Given the description of an element on the screen output the (x, y) to click on. 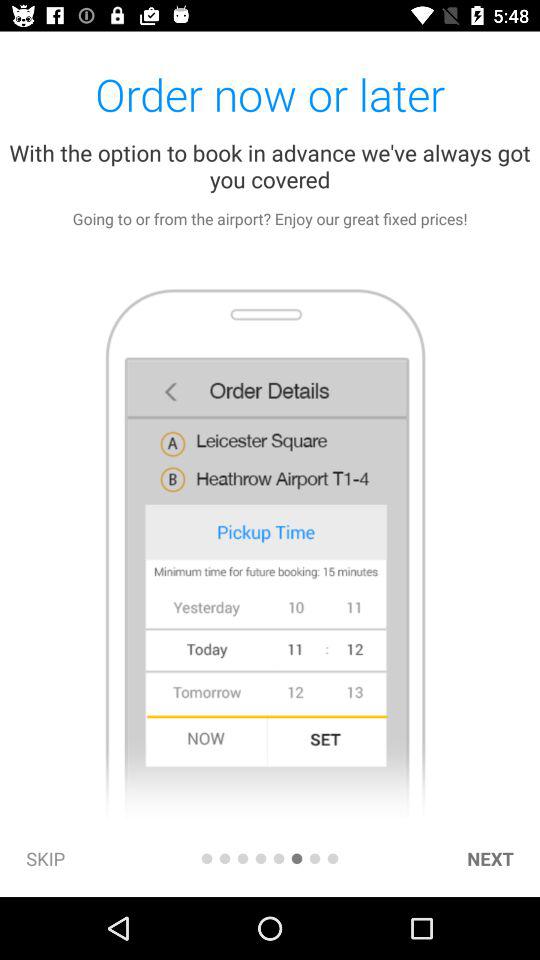
turn on item at the bottom left corner (45, 858)
